Given the description of an element on the screen output the (x, y) to click on. 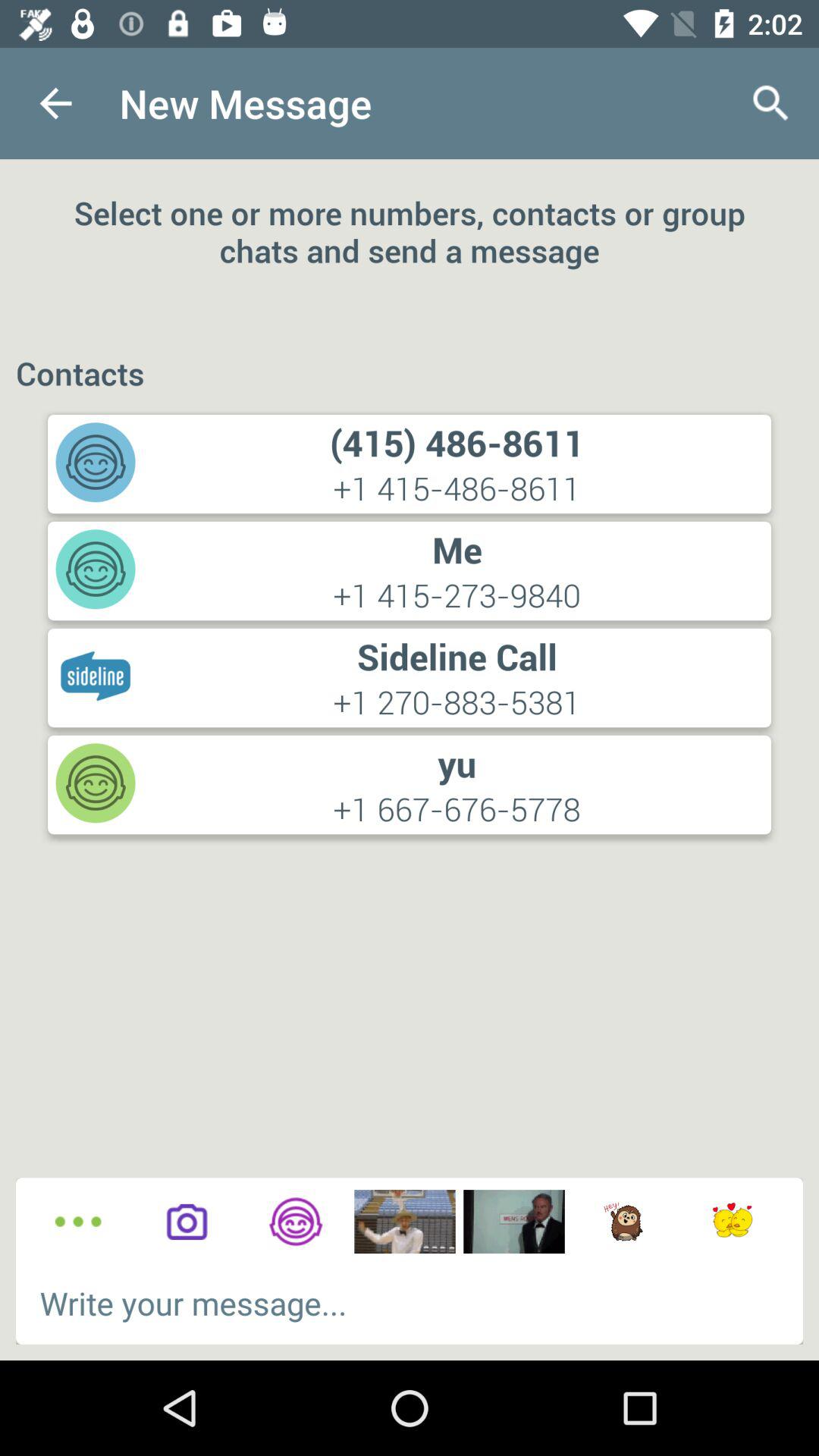
send emoji (732, 1221)
